Given the description of an element on the screen output the (x, y) to click on. 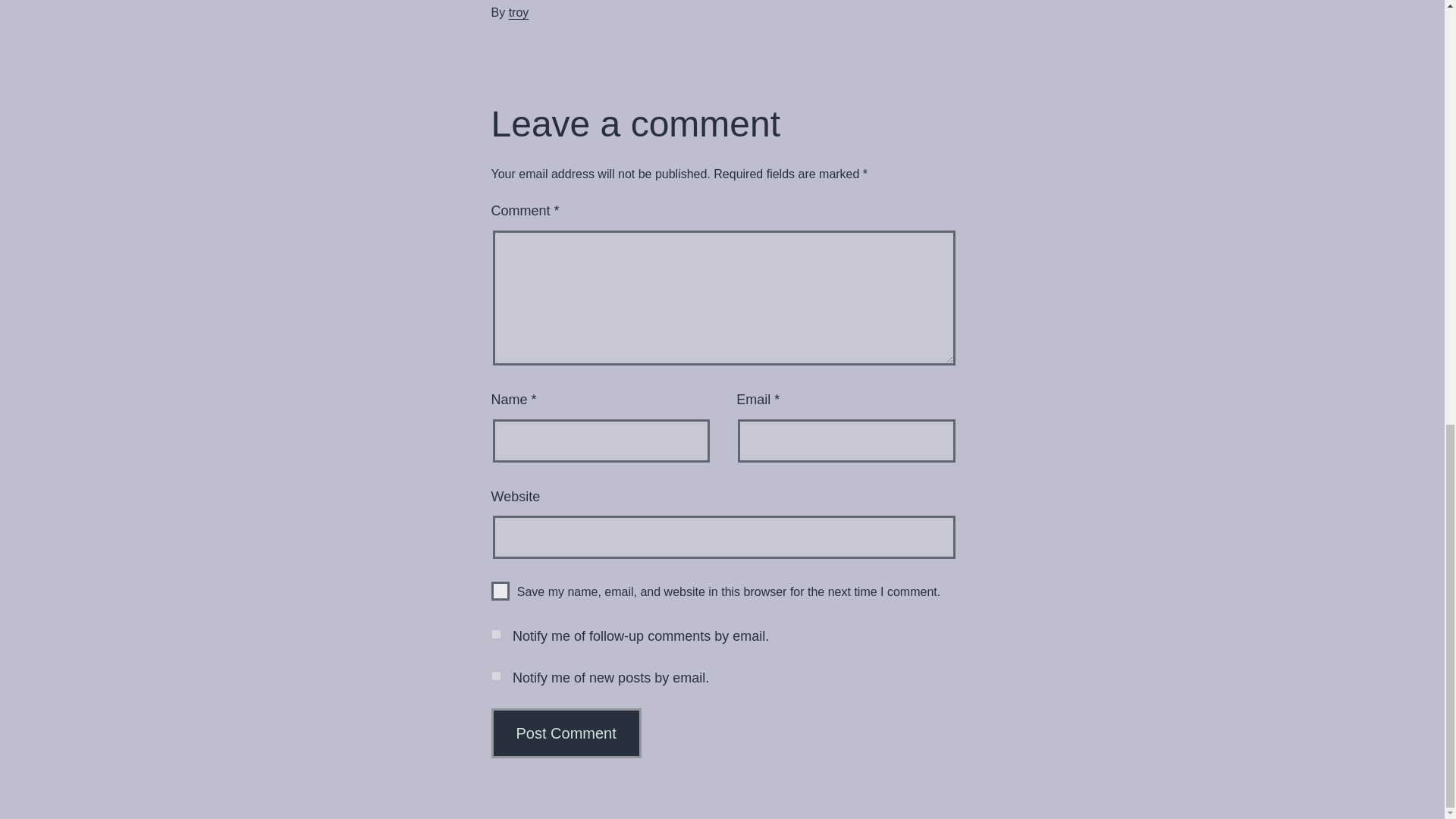
yes (500, 590)
Post Comment (567, 733)
troy (518, 11)
Post Comment (567, 733)
